Given the description of an element on the screen output the (x, y) to click on. 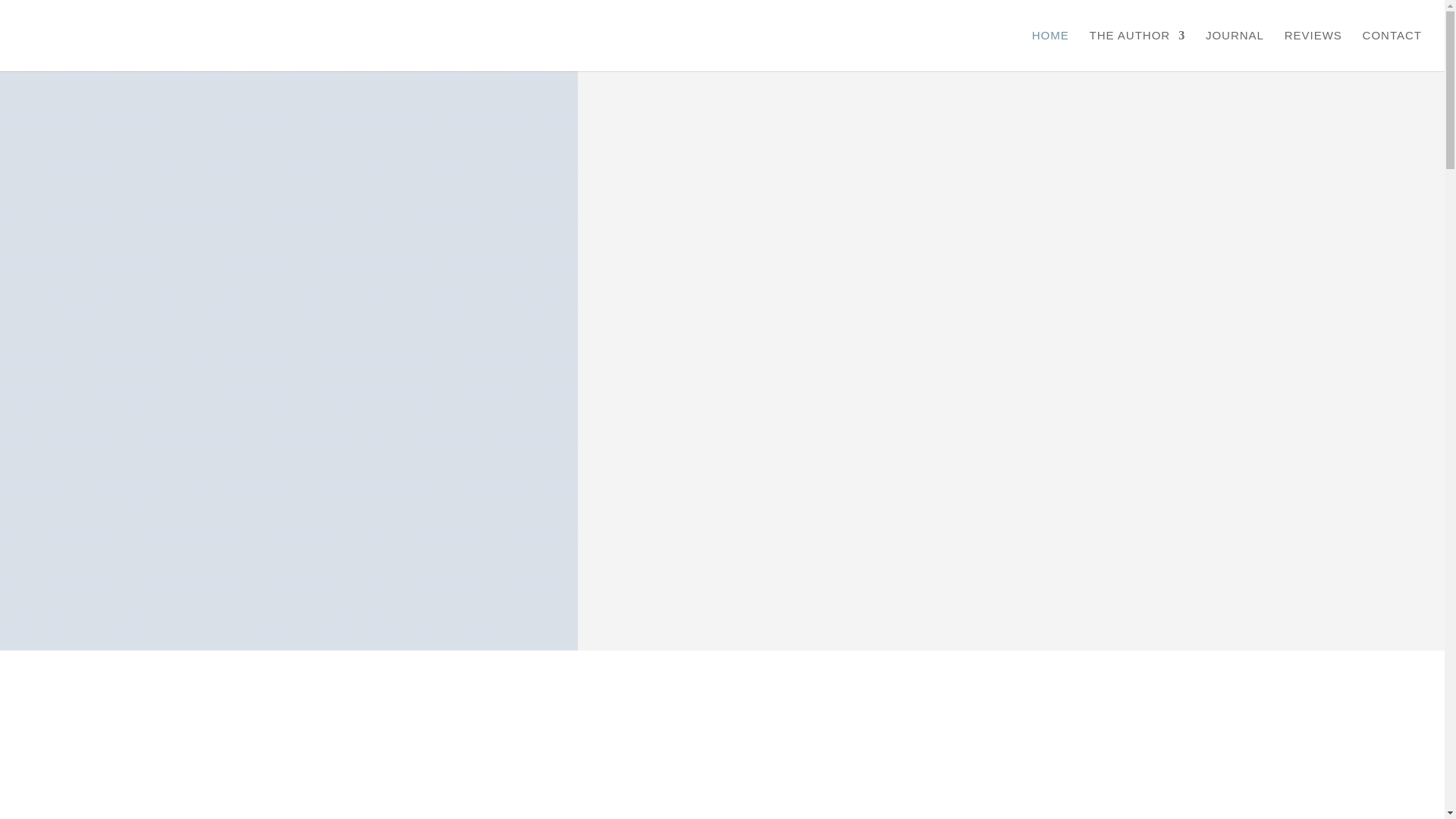
CONTACT (1392, 50)
THE AUTHOR (1137, 50)
REVIEWS (1313, 50)
HOME (1050, 50)
JOURNAL (1234, 50)
